Given the description of an element on the screen output the (x, y) to click on. 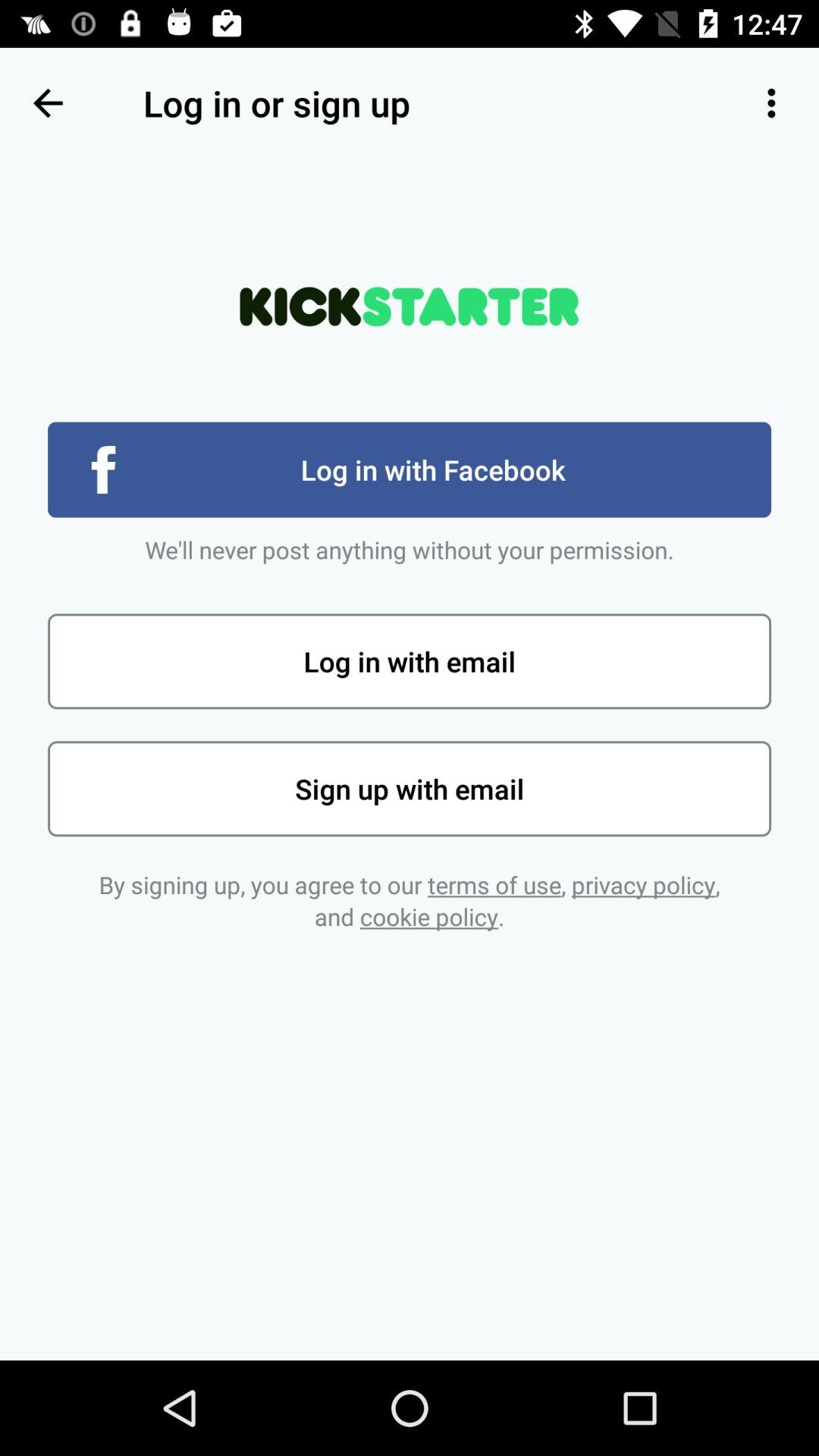
turn off the icon at the top left corner (47, 103)
